Given the description of an element on the screen output the (x, y) to click on. 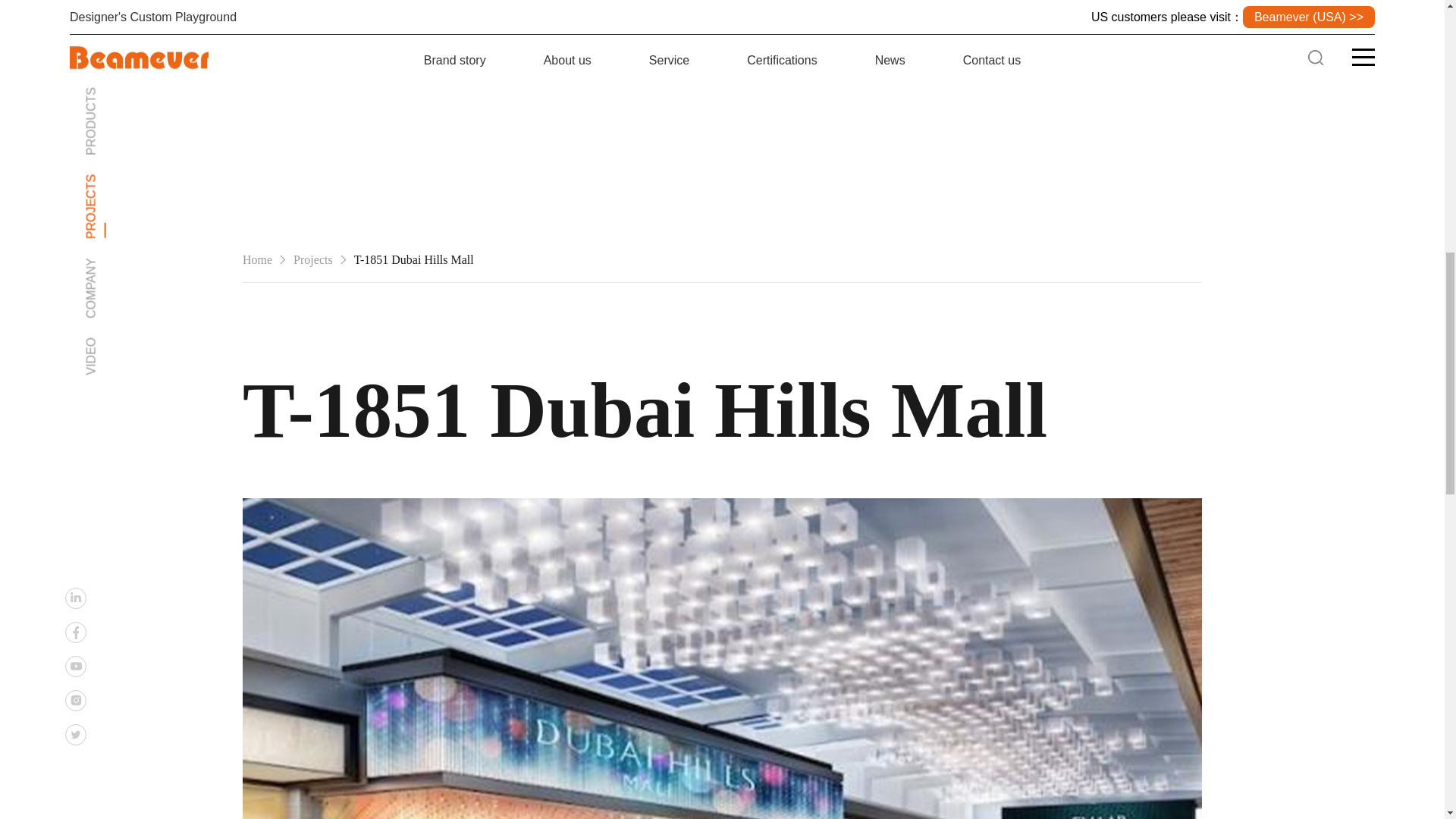
Return to project page (304, 520)
NEXT (1103, 724)
PREV (349, 724)
